Given the description of an element on the screen output the (x, y) to click on. 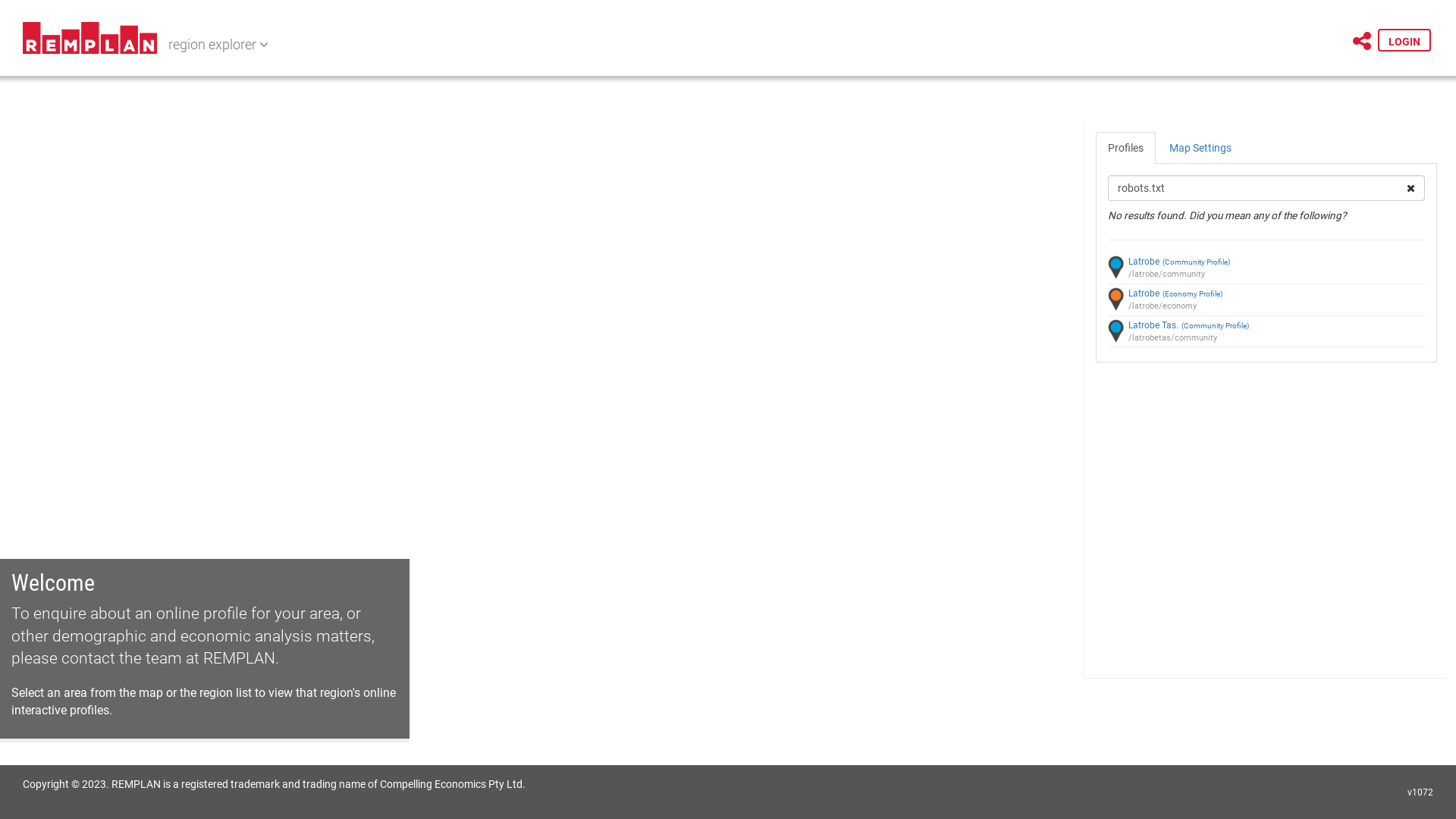
Clear Element type: hover (1410, 187)
Profiles Element type: text (1125, 147)
Latrobe(Community Profile) Element type: text (1265, 261)
Share Element type: hover (1361, 41)
Latrobe(Economy Profile) Element type: text (1265, 293)
REMPLAN Element type: text (239, 658)
/latrobe/community Element type: text (1265, 274)
Map Settings Element type: text (1200, 147)
Latrobe Tas.(Community Profile) Element type: text (1265, 325)
/latrobetas/community Element type: text (1265, 338)
/latrobe/economy Element type: text (1265, 306)
region explorer Element type: text (218, 44)
LOGIN Element type: text (1403, 39)
